Given the description of an element on the screen output the (x, y) to click on. 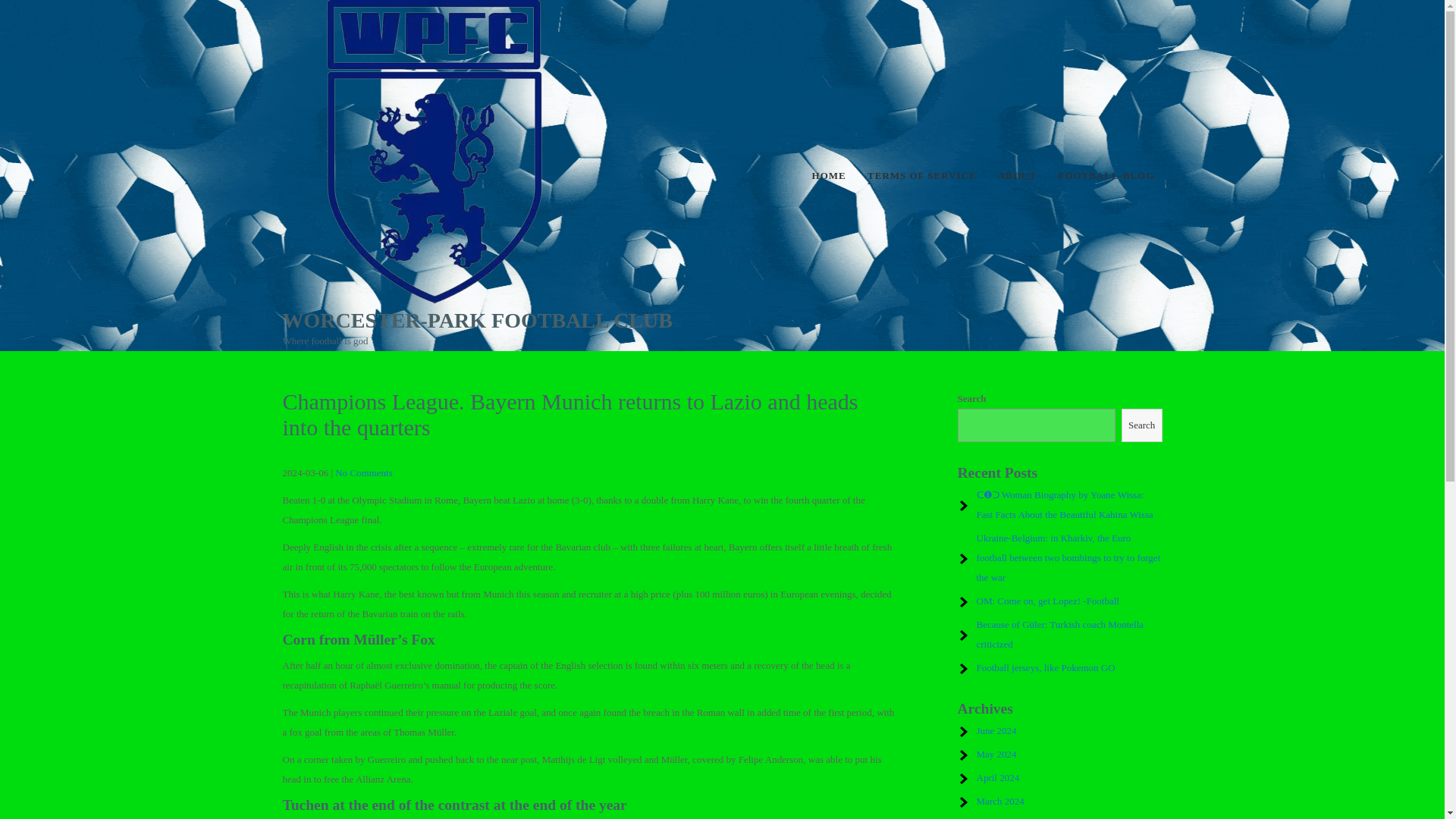
May 2024 (996, 754)
March 2024 (1000, 800)
Football jerseys, like Pokemon GO (1045, 667)
FOOTBALL-BLOG (1105, 176)
OM: Come on, get Lopez! -Football (1047, 600)
June 2024 (996, 730)
TERMS OF SERVICE (922, 176)
April 2024 (998, 777)
Search (1141, 425)
No Comments (362, 472)
WORCESTER-PARK FOOTBALL CLUB (476, 320)
